Given the description of an element on the screen output the (x, y) to click on. 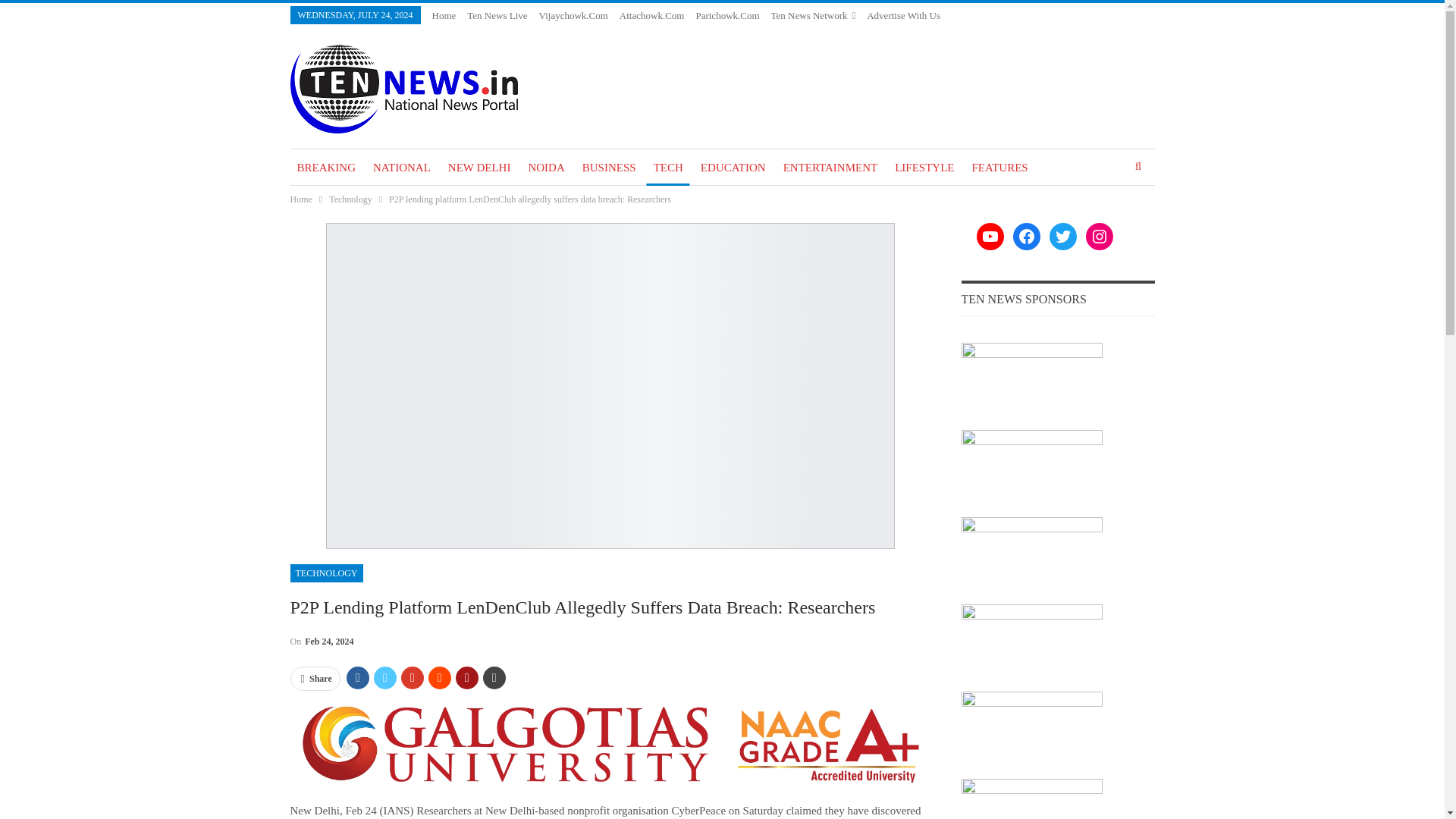
NOIDA (545, 167)
BREAKING (325, 167)
Ten News Network (813, 15)
Contact Us (888, 34)
Vijaychowk.Com (573, 15)
BUSINESS (609, 167)
FEATURES (1000, 167)
NEW DELHI (479, 167)
EDUCATION (733, 167)
Home (444, 15)
LIFESTYLE (924, 167)
ENTERTAINMENT (830, 167)
Careers (936, 34)
Ten News Live (497, 15)
TECH (668, 167)
